Given the description of an element on the screen output the (x, y) to click on. 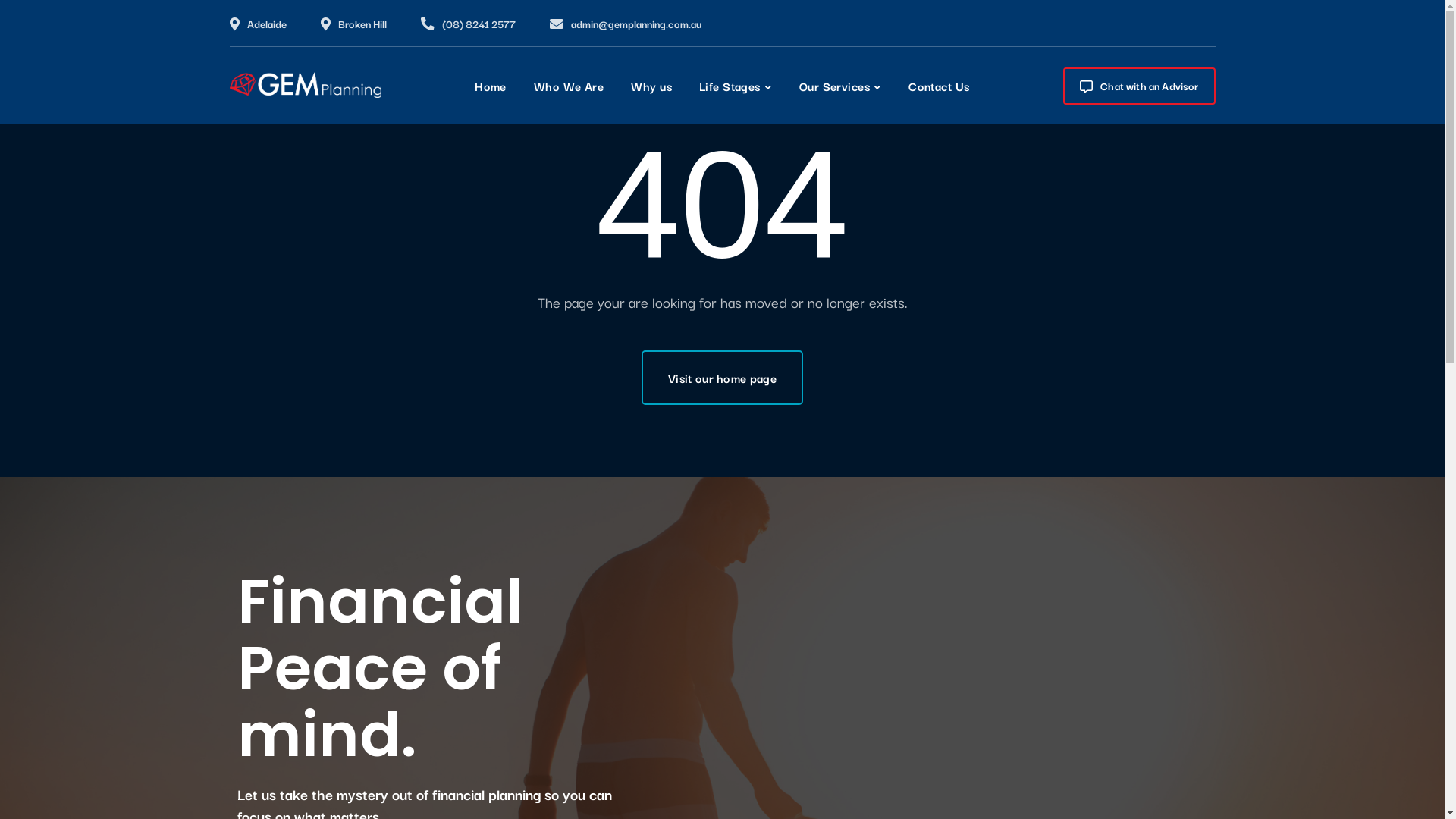
Why us Element type: text (651, 85)
Visit our home page Element type: text (722, 377)
Our Services Element type: text (839, 85)
Home Element type: text (490, 85)
Chat with an Advisor Element type: text (1138, 85)
Contact Us Element type: text (938, 85)
Who We Are Element type: text (568, 85)
Life Stages Element type: text (735, 85)
Gem Planning Element type: hover (304, 84)
admin@gemplanning.com.au Element type: text (635, 23)
